Given the description of an element on the screen output the (x, y) to click on. 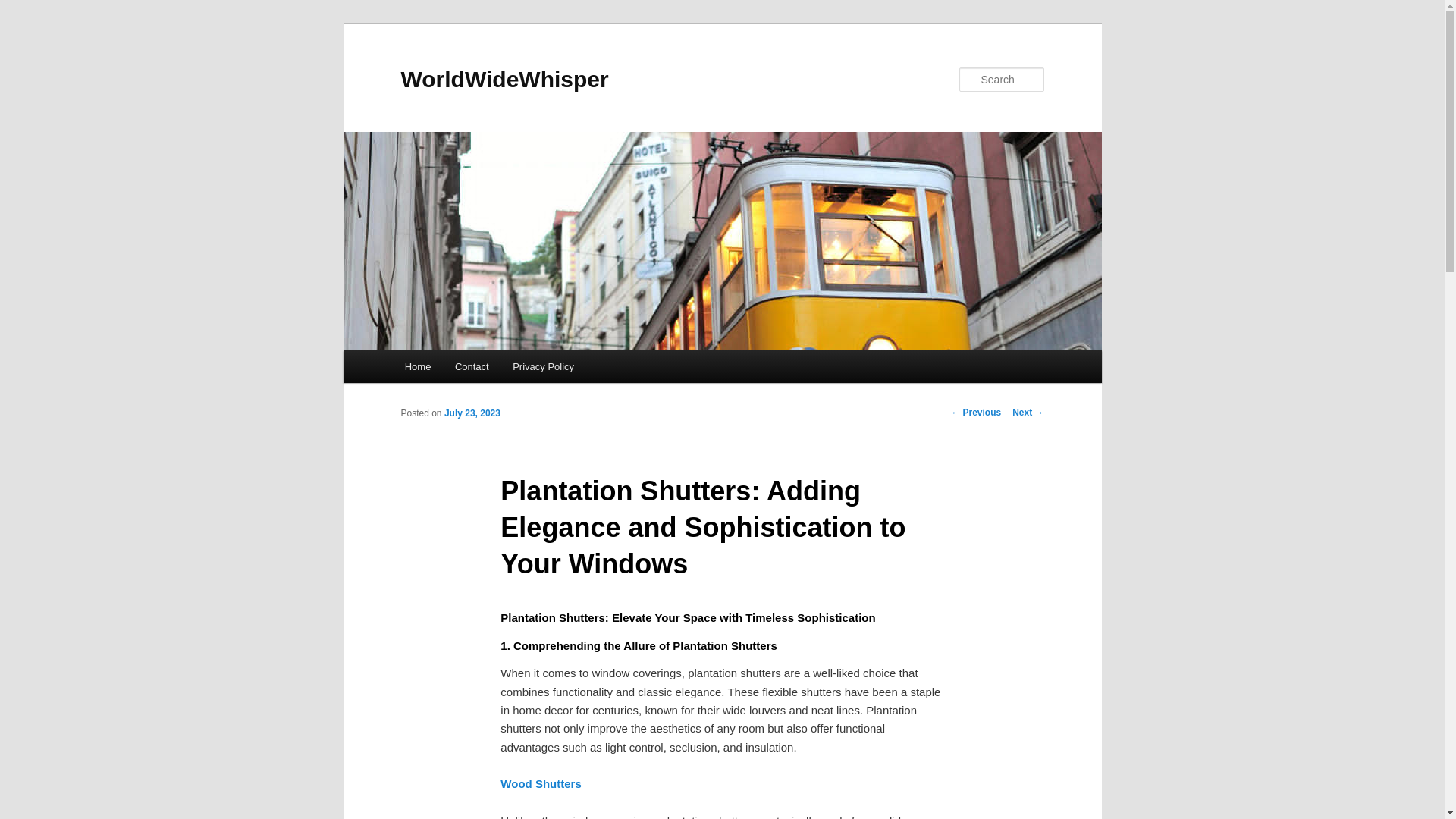
Contact (471, 366)
WorldWideWhisper (504, 78)
Search (24, 8)
Privacy Policy (542, 366)
July 23, 2023 (472, 412)
5:13 am (472, 412)
Wood Shutters (540, 783)
Home (417, 366)
